Given the description of an element on the screen output the (x, y) to click on. 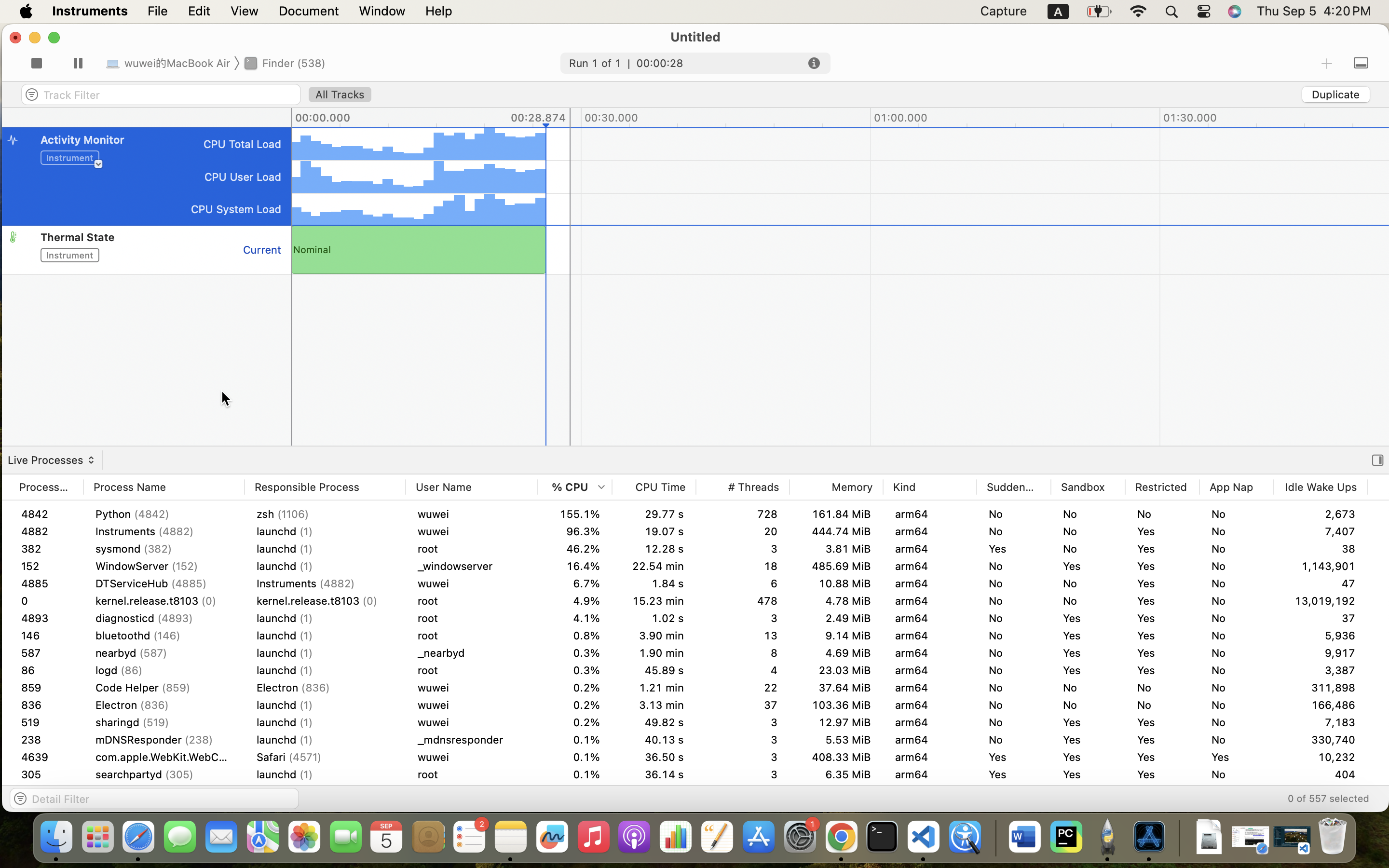
0.3% Element type: AXStaticText (574, 791)
3,387 Element type: AXStaticText (1320, 722)
8.97 MiB Element type: AXStaticText (835, 722)
5.5% Element type: AXStaticText (574, 617)
40.4% Element type: AXStaticText (574, 548)
